Given the description of an element on the screen output the (x, y) to click on. 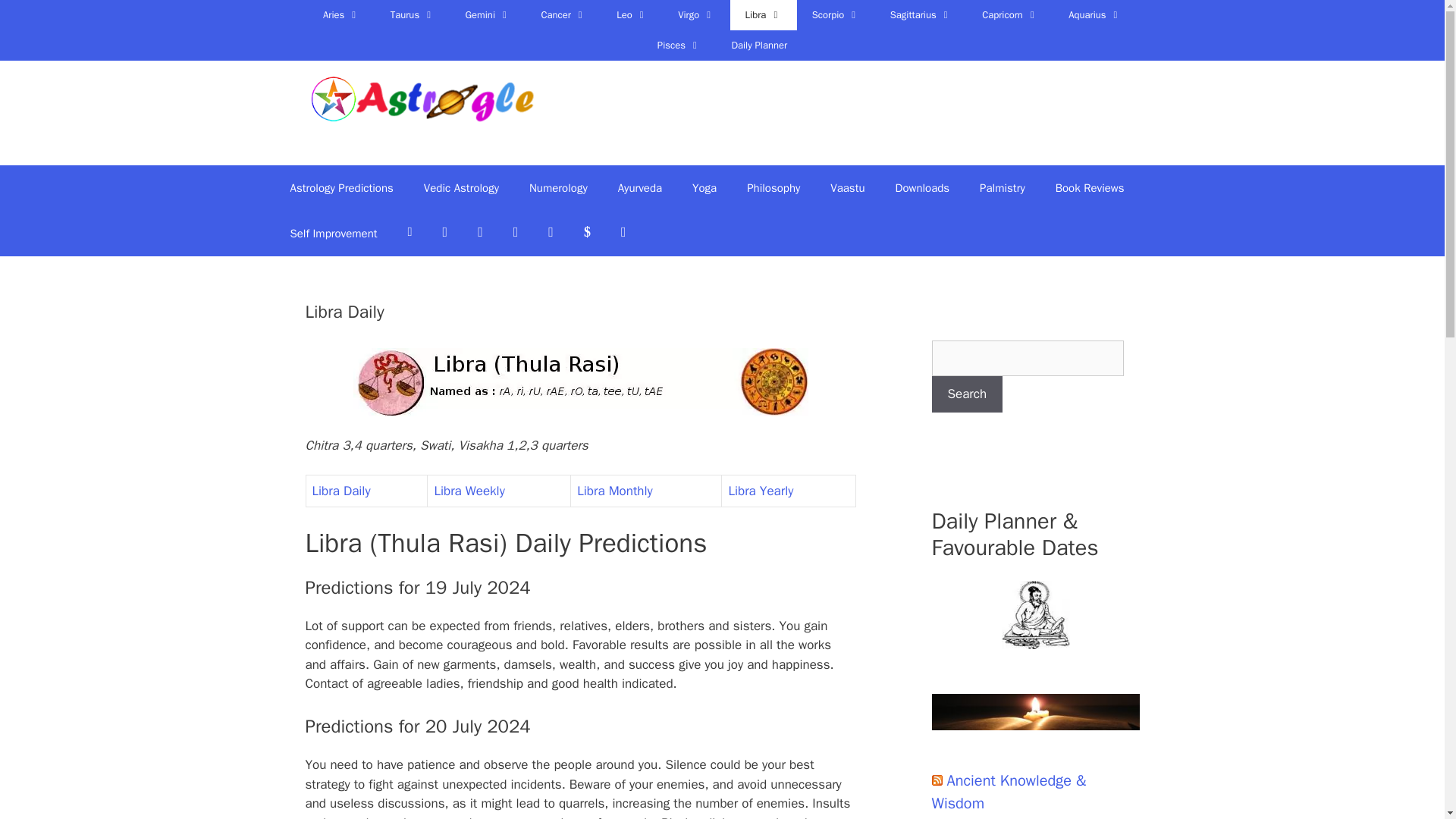
Cancer (563, 15)
Aries (341, 15)
Virgo (695, 15)
Gemini (487, 15)
Leo (631, 15)
Search (967, 393)
Taurus (412, 15)
Libra (763, 15)
Scorpio (835, 15)
